Given the description of an element on the screen output the (x, y) to click on. 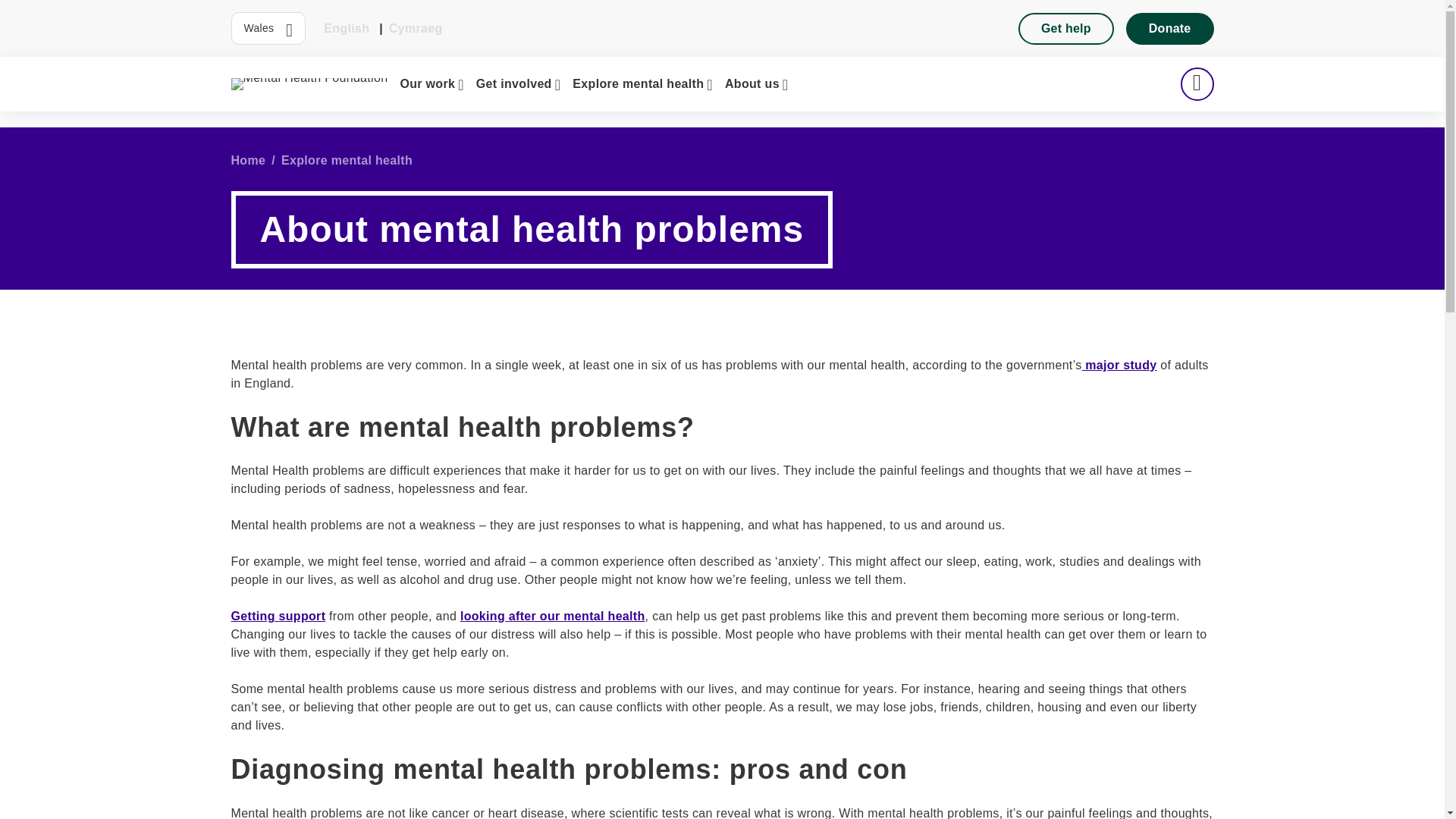
Our work (430, 84)
How to support someone with a mental health problem (277, 615)
About us (756, 84)
Looking after your mental health (552, 615)
Get help (1065, 28)
Explore mental health (642, 84)
Get involved (518, 84)
Donate (1169, 28)
Wales (267, 28)
